Given the description of an element on the screen output the (x, y) to click on. 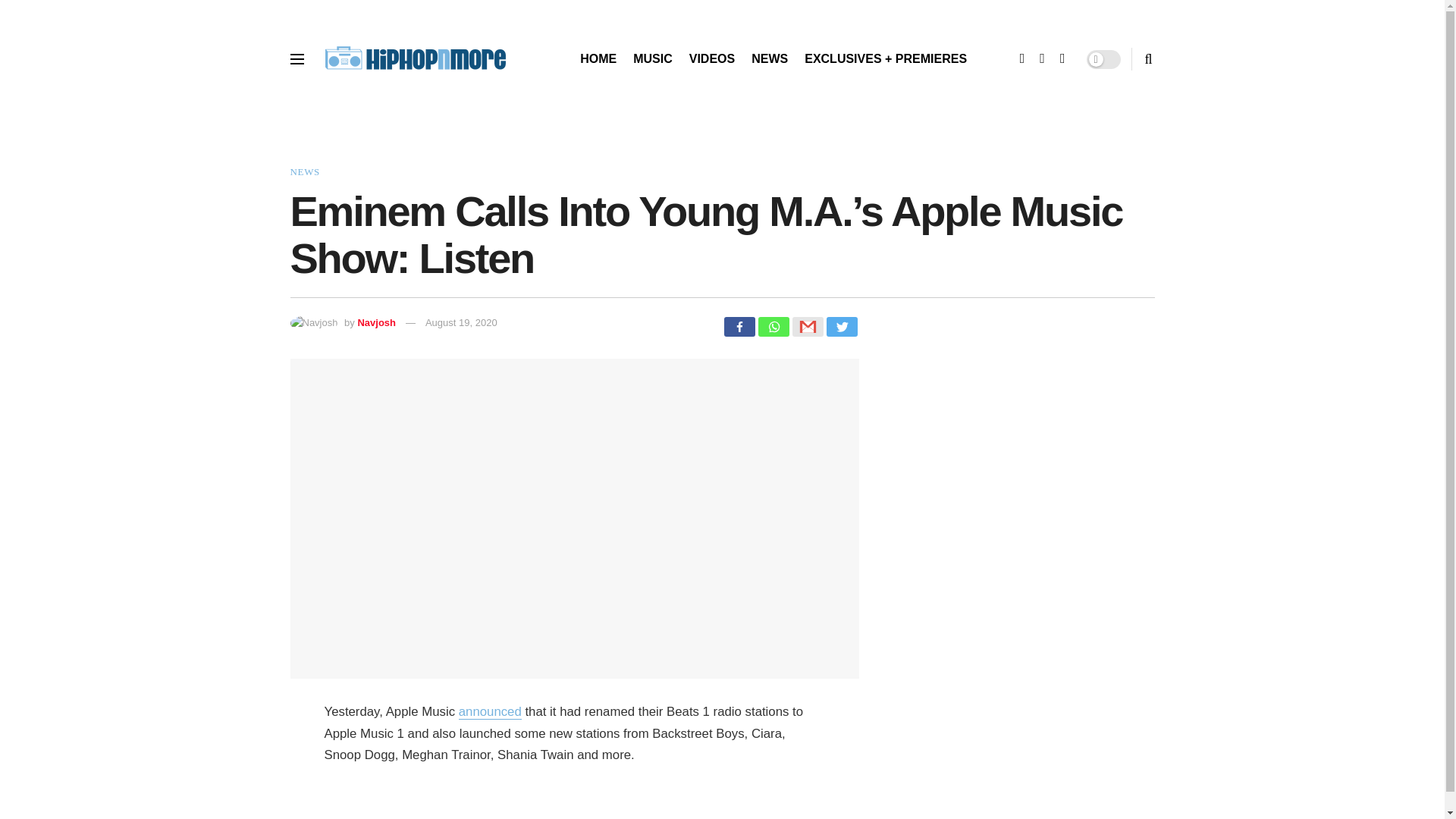
Whatsapp (773, 326)
Navjosh (376, 322)
HOME (597, 58)
NEWS (769, 58)
NEWS (303, 171)
August 19, 2020 (461, 322)
Google Gmail (807, 326)
MUSIC (652, 58)
VIDEOS (711, 58)
Twitter (842, 326)
Facebook (738, 326)
